Given the description of an element on the screen output the (x, y) to click on. 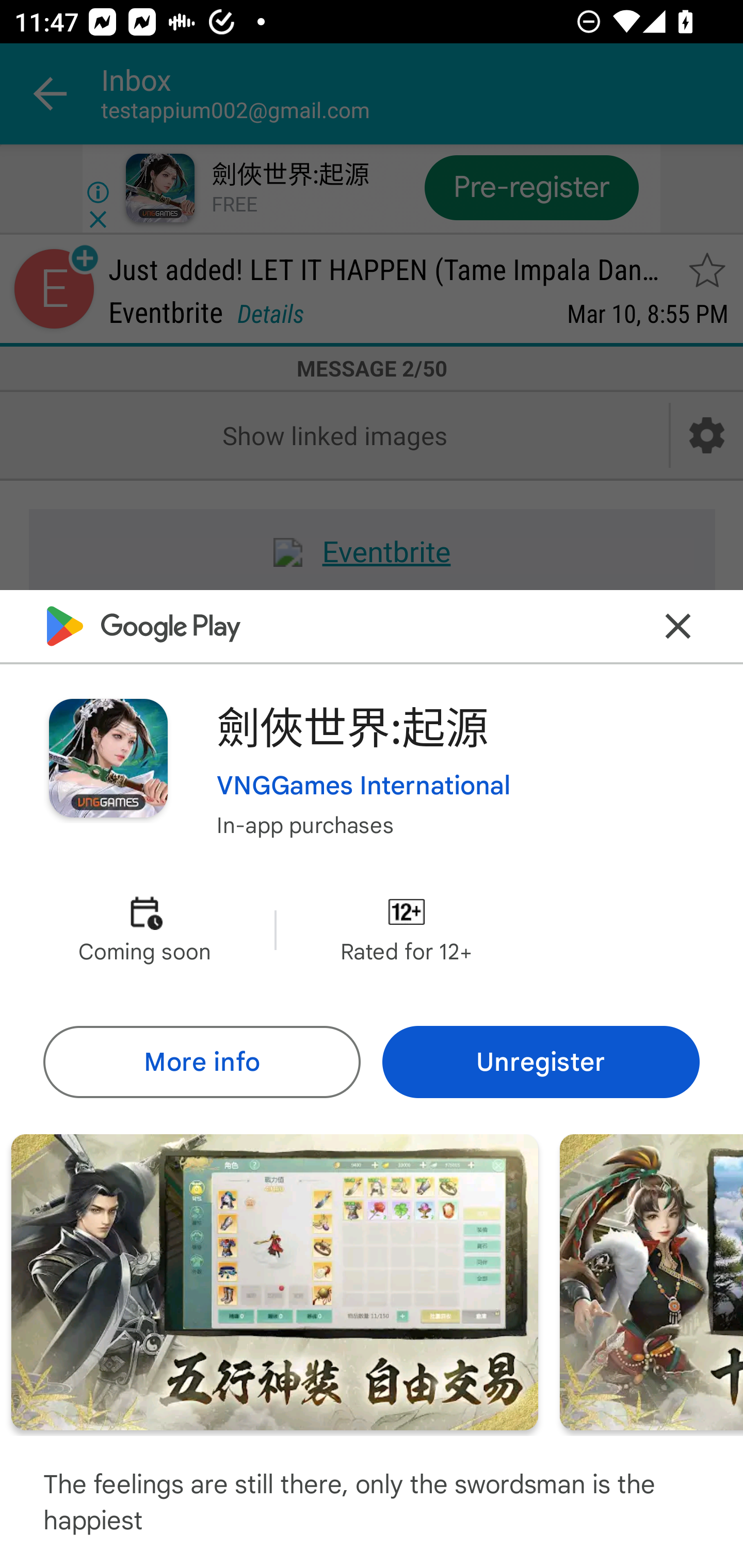
Close (677, 625)
Image of app or game icon for 劍俠世界:起源 (108, 758)
VNGGames International (363, 784)
More info (201, 1061)
Unregister (540, 1061)
Screenshot "2" of "5" (274, 1281)
